Given the description of an element on the screen output the (x, y) to click on. 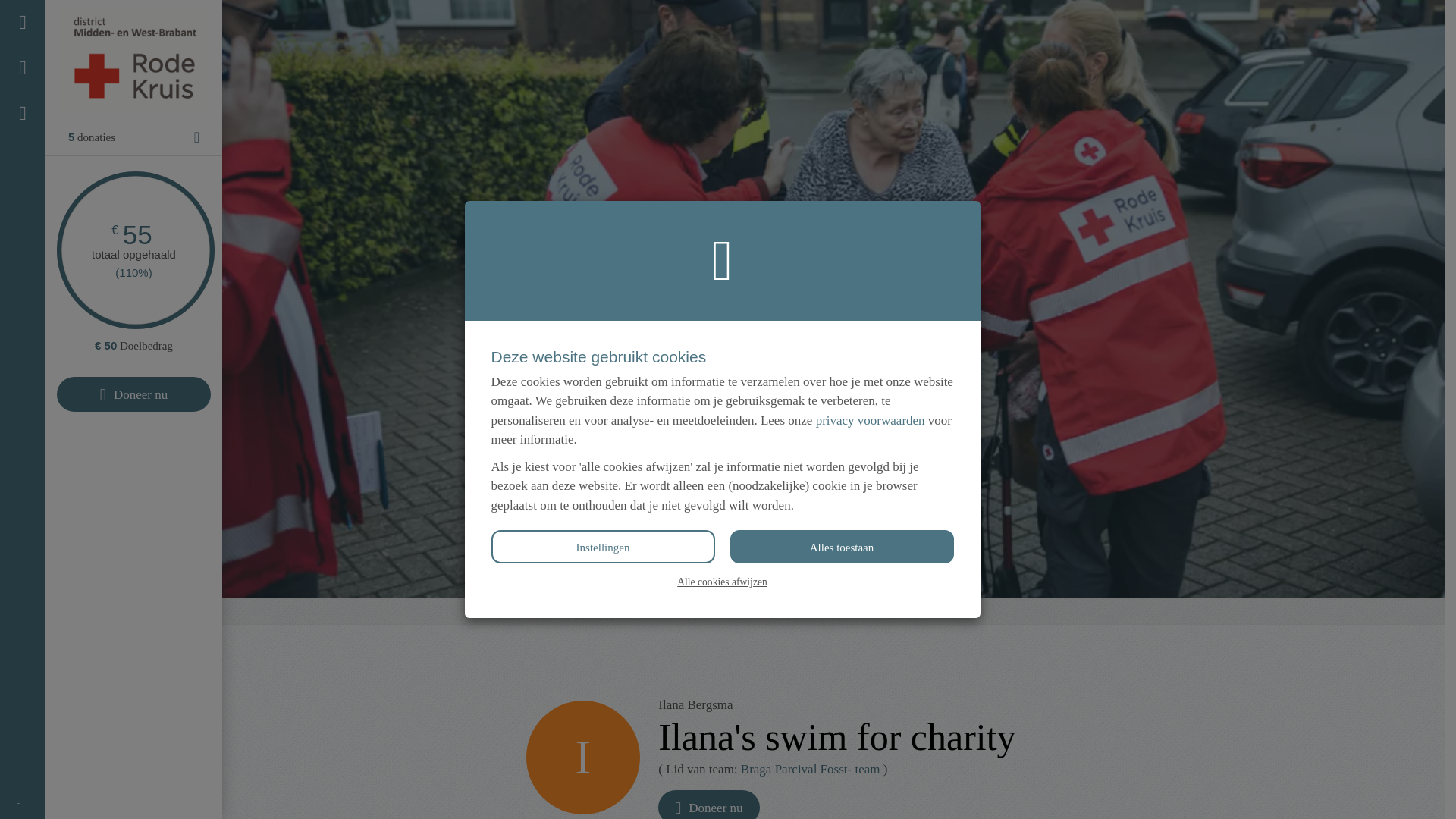
Home (543, 610)
Doneer nu (133, 393)
5 donaties (133, 136)
Braga Parcival Fosst- team (772, 610)
Doneer nu (708, 804)
Braga Parcival Fosst- team (810, 769)
Swim for Charity 2024 (628, 610)
